Given the description of an element on the screen output the (x, y) to click on. 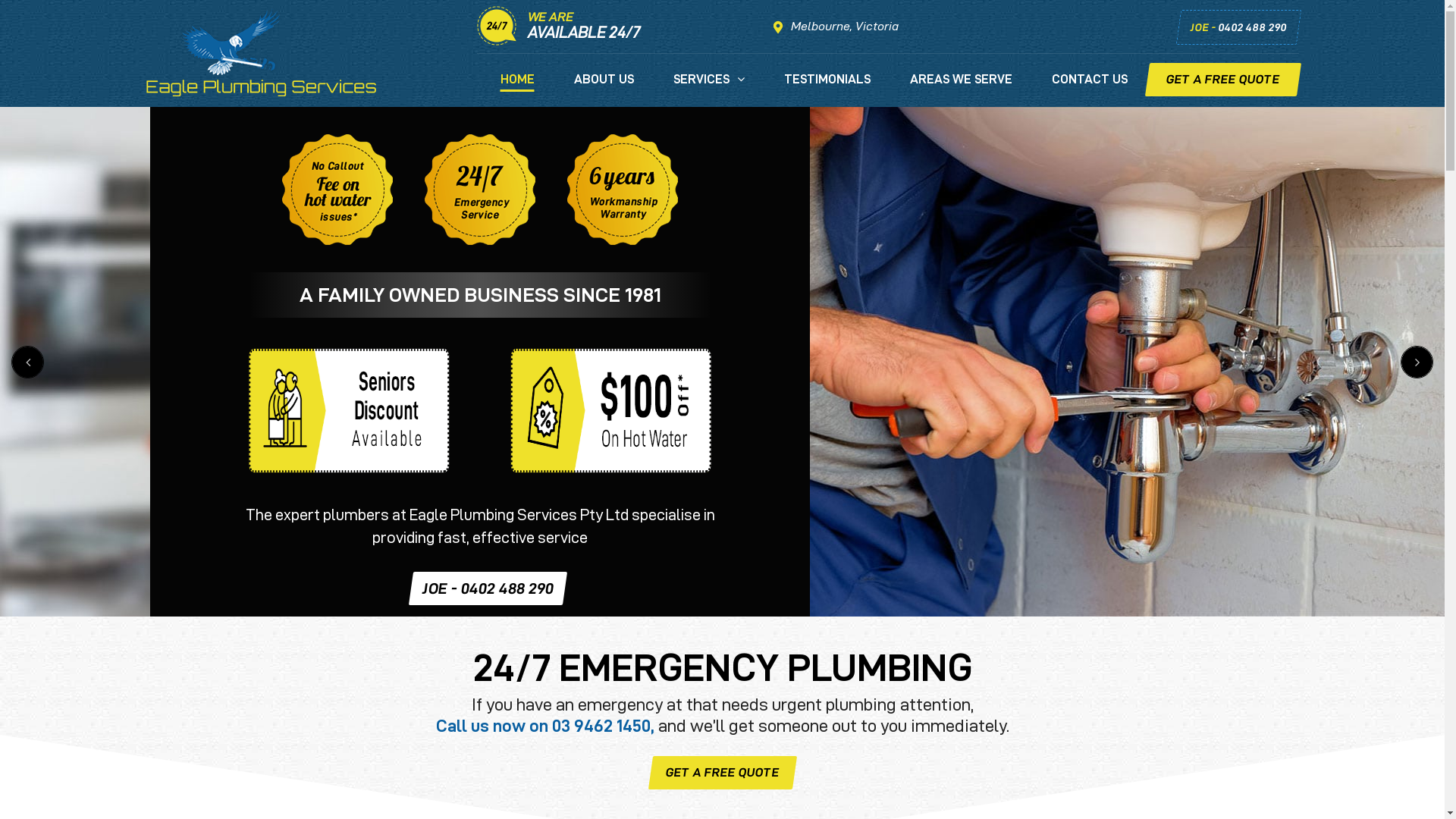
SERVICES Element type: text (708, 88)
JOE - 0402 488 290 Element type: text (1235, 26)
TESTIMONIALS Element type: text (827, 88)
CONTACT US Element type: text (1088, 88)
JOE - 0402 488 290 Element type: text (485, 588)
ABOUT US Element type: text (603, 88)
HOME Element type: text (517, 88)
Previous Element type: text (27, 361)
Next Element type: text (1416, 361)
03 9462 1450 Element type: text (601, 725)
GET A FREE QUOTE Element type: text (719, 772)
AREAS WE SERVE Element type: text (961, 88)
GET A FREE QUOTE Element type: text (1219, 79)
